Given the description of an element on the screen output the (x, y) to click on. 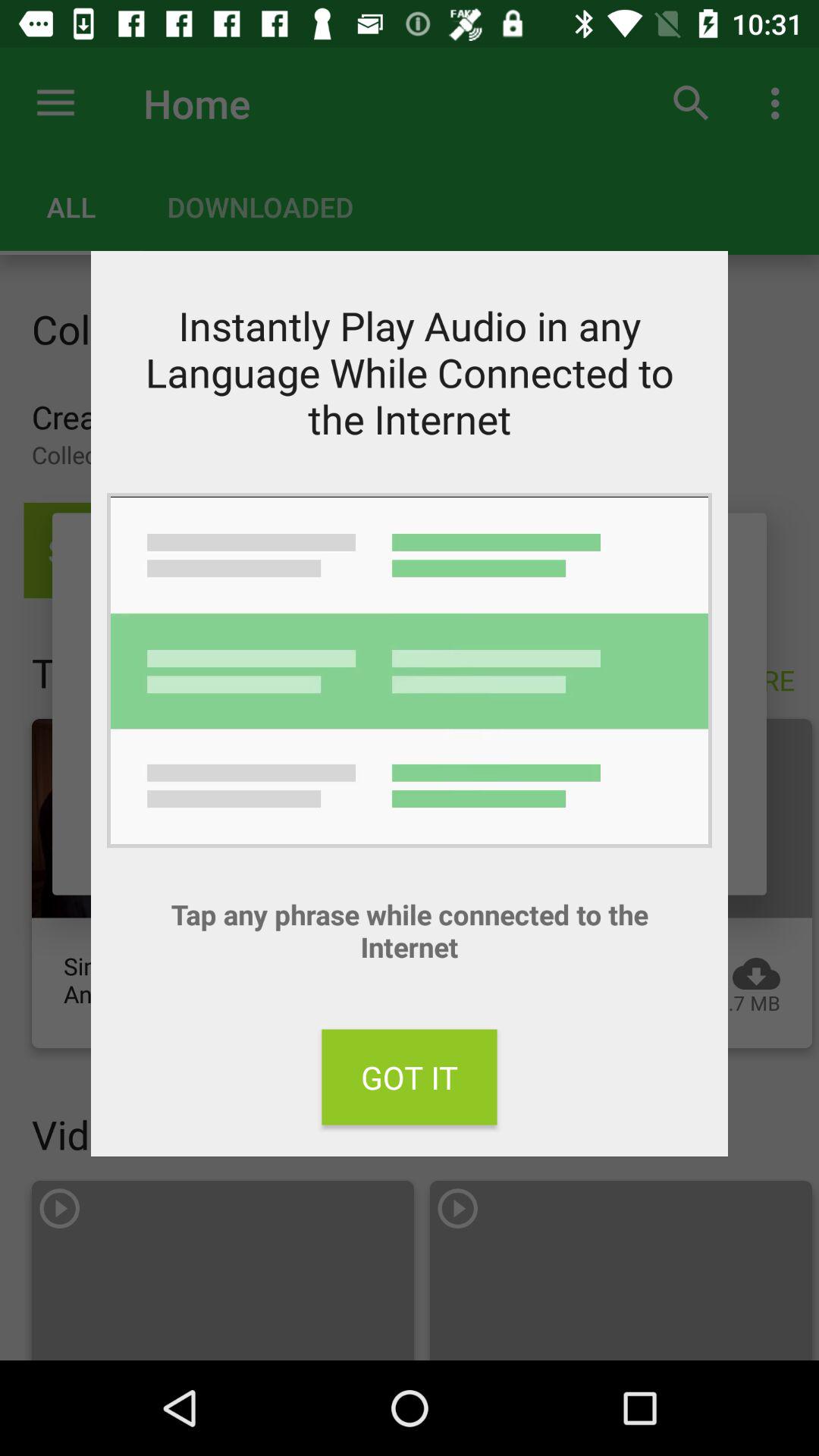
turn off got it item (409, 1076)
